Given the description of an element on the screen output the (x, y) to click on. 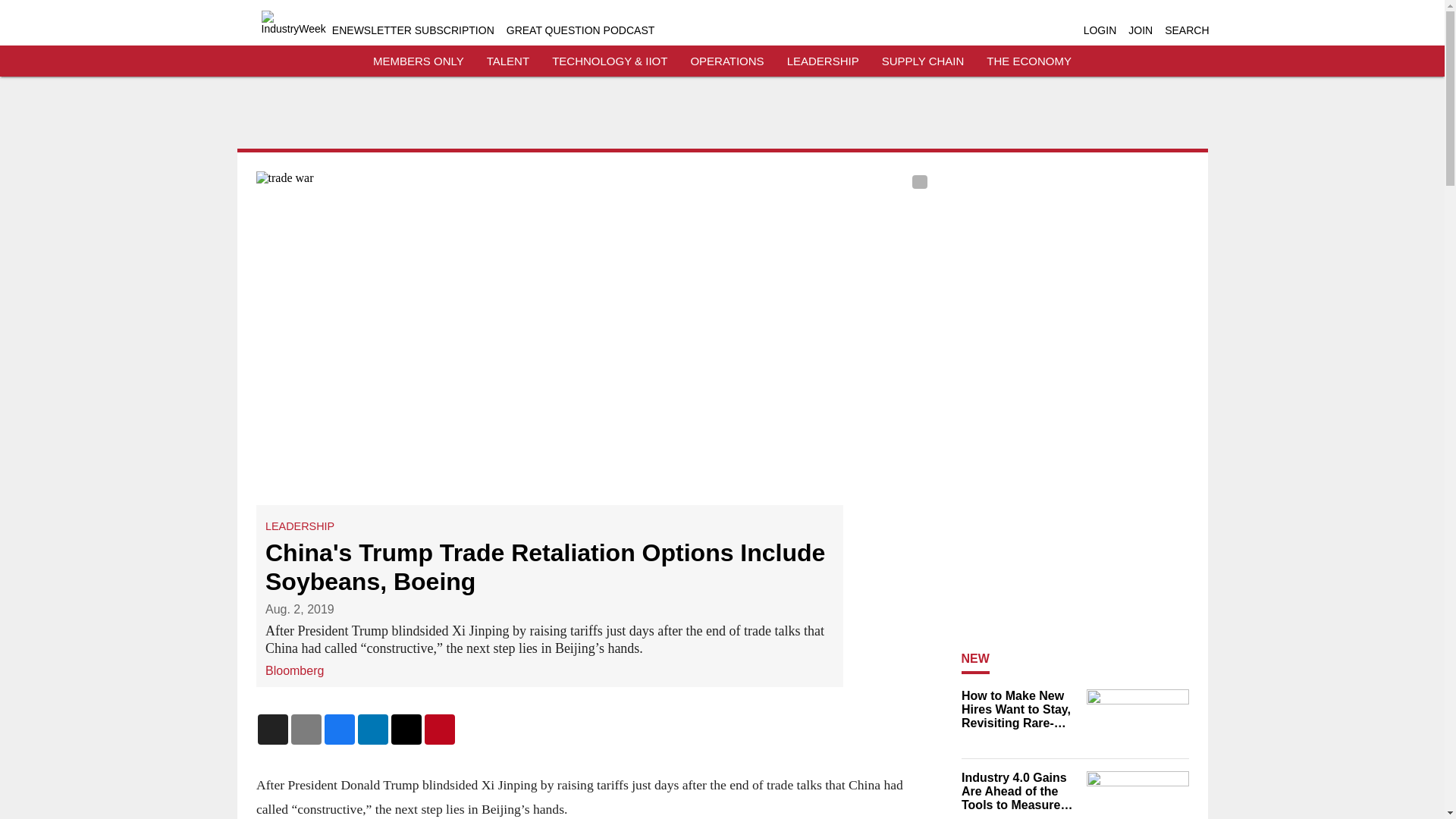
MEMBERS ONLY (418, 60)
TALENT (507, 60)
SUPPLY CHAIN (922, 60)
SEARCH (1186, 30)
GREAT QUESTION PODCAST (580, 30)
LOGIN (1099, 30)
ENEWSLETTER SUBSCRIPTION (413, 30)
THE ECONOMY (1029, 60)
LEADERSHIP (299, 526)
